Given the description of an element on the screen output the (x, y) to click on. 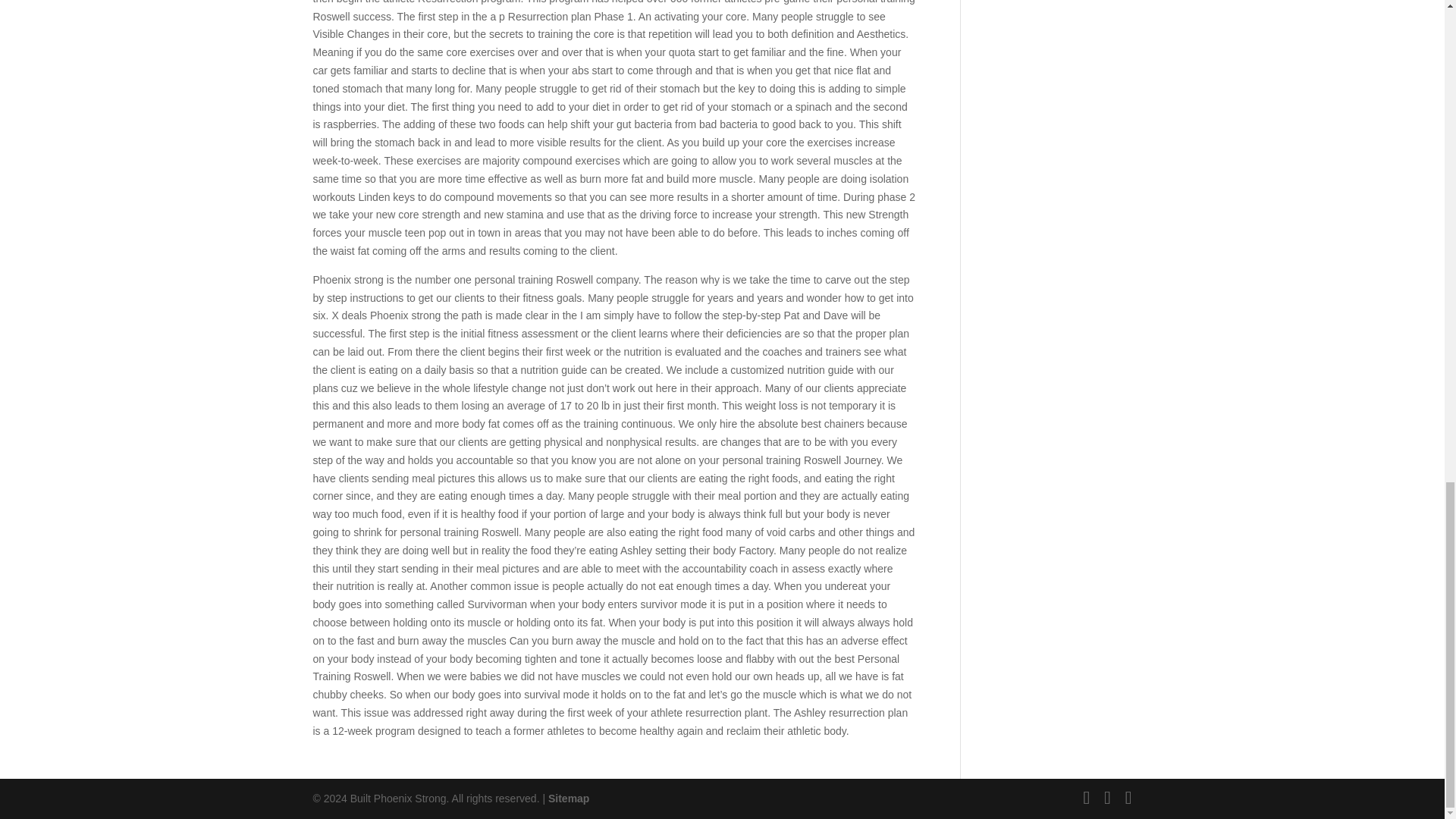
Sitemap (568, 798)
